Given the description of an element on the screen output the (x, y) to click on. 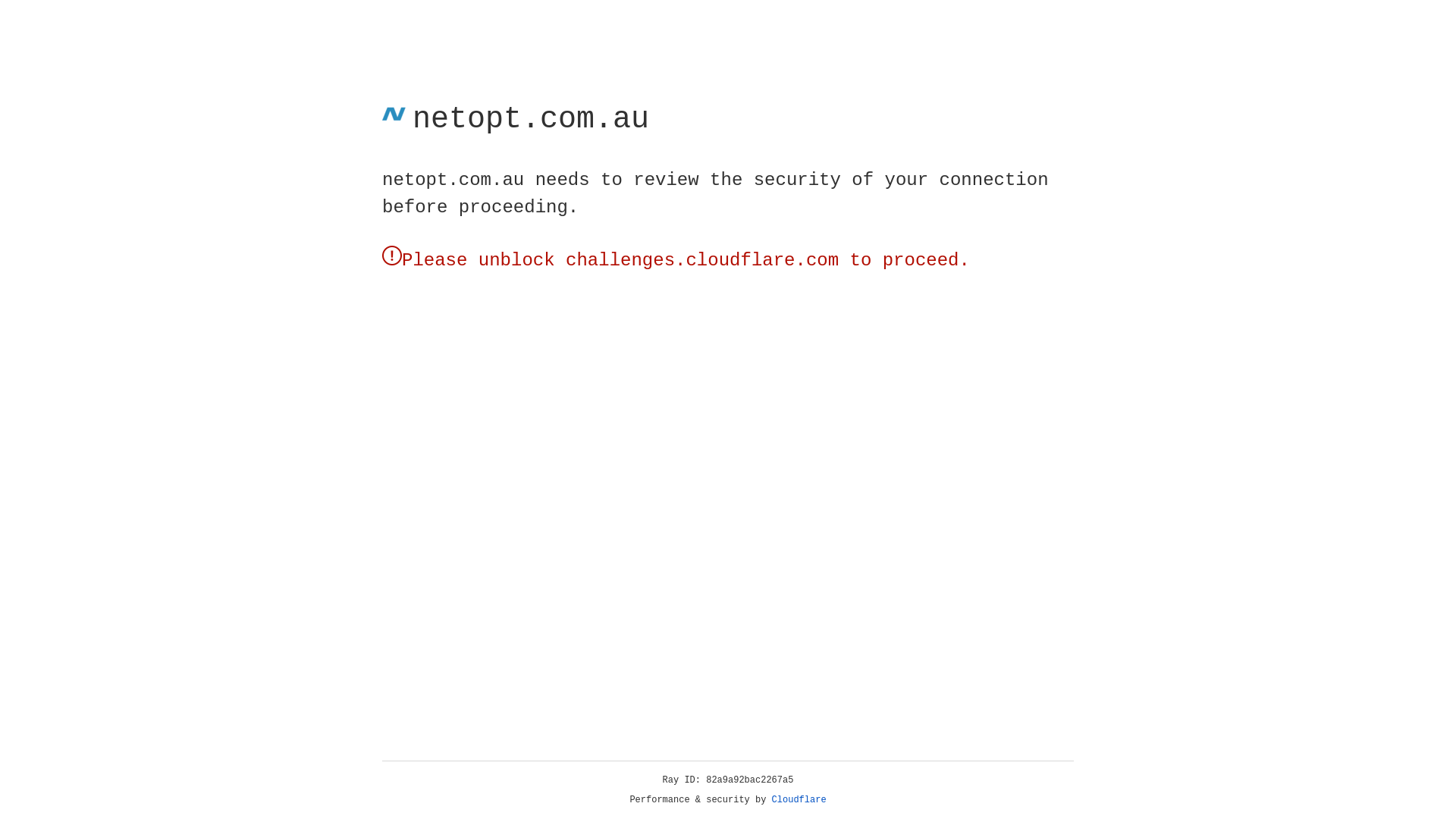
Cloudflare Element type: text (798, 799)
